Given the description of an element on the screen output the (x, y) to click on. 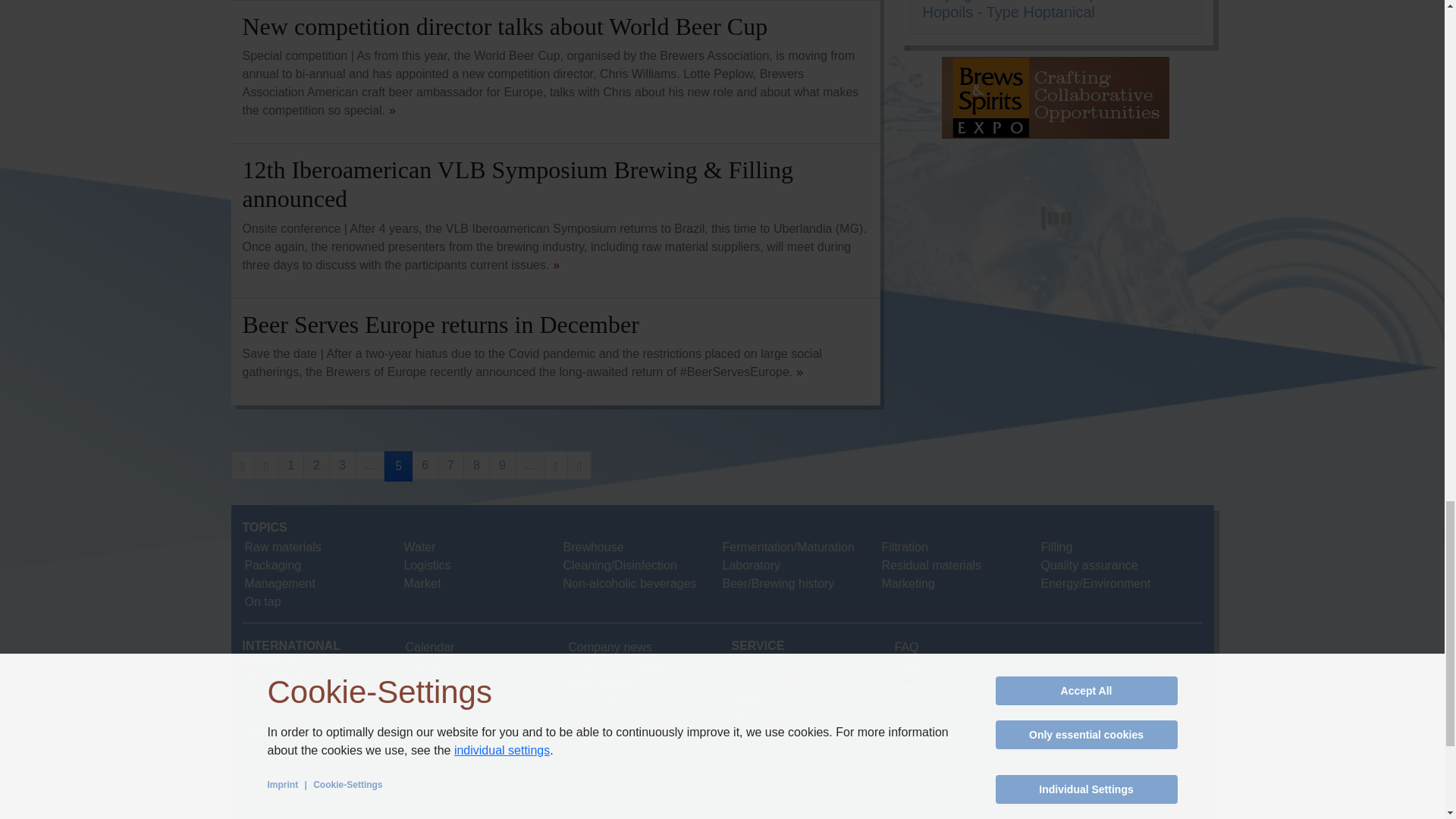
4 (369, 465)
10 (529, 465)
3 (342, 465)
2 (316, 465)
7 (451, 465)
1 (291, 465)
9 (502, 465)
6 (425, 465)
8 (476, 465)
